Given the description of an element on the screen output the (x, y) to click on. 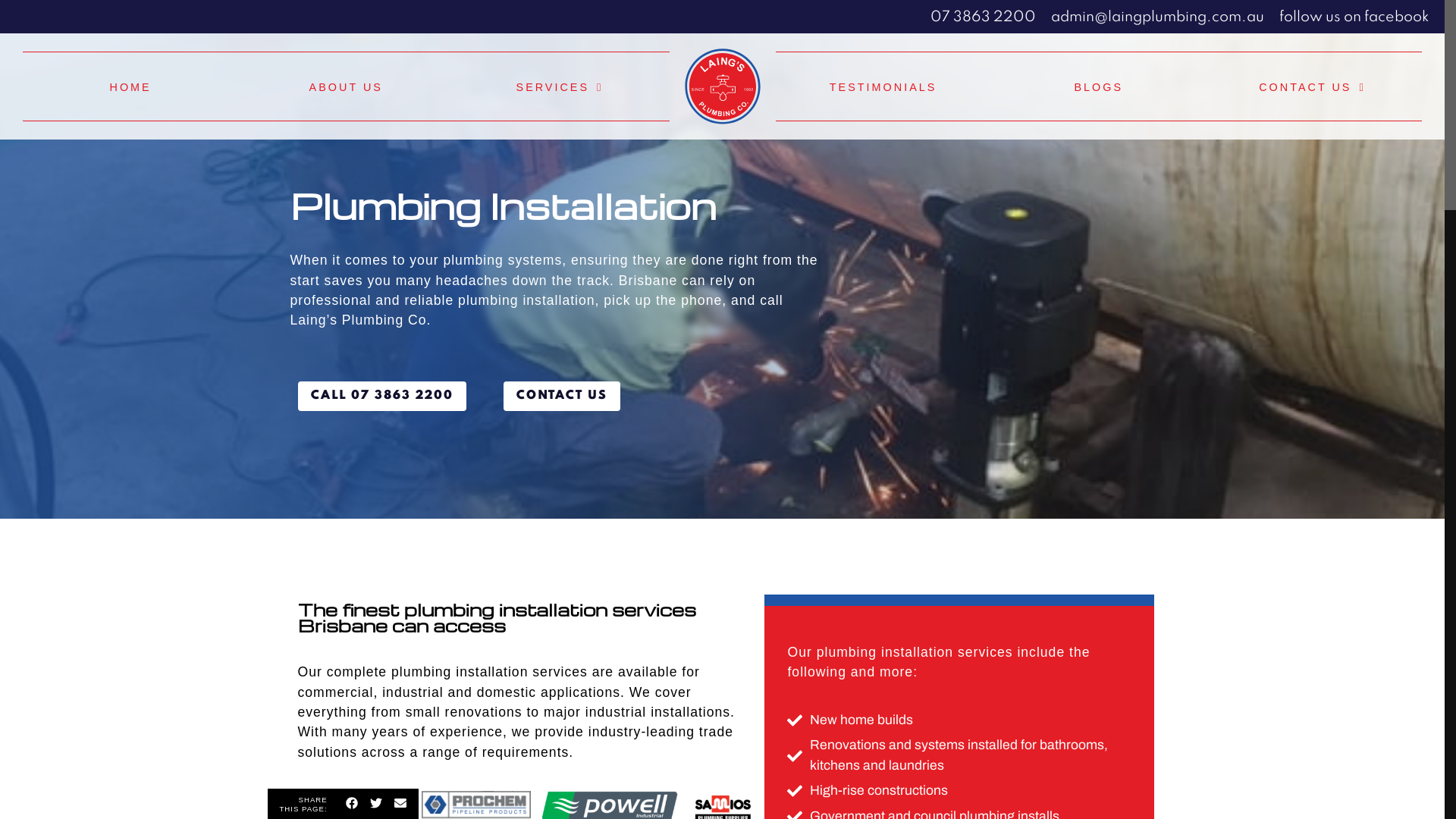
HOME Element type: text (130, 86)
CONTACT US Element type: text (561, 395)
SERVICES Element type: text (559, 86)
Share on Twitter Element type: hover (376, 805)
Share on Facebook Element type: hover (351, 805)
TESTIMONIALS Element type: text (882, 86)
ABOUT US Element type: text (345, 86)
CALL 07 3863 2200 Element type: text (381, 395)
follow us on facebook Element type: text (1354, 16)
admin@laingplumbing.com.au Element type: text (1157, 16)
CONTACT US Element type: text (1312, 86)
BLOGS Element type: text (1098, 86)
07 3863 2200 Element type: text (982, 16)
Share via Email Element type: hover (400, 805)
